Given the description of an element on the screen output the (x, y) to click on. 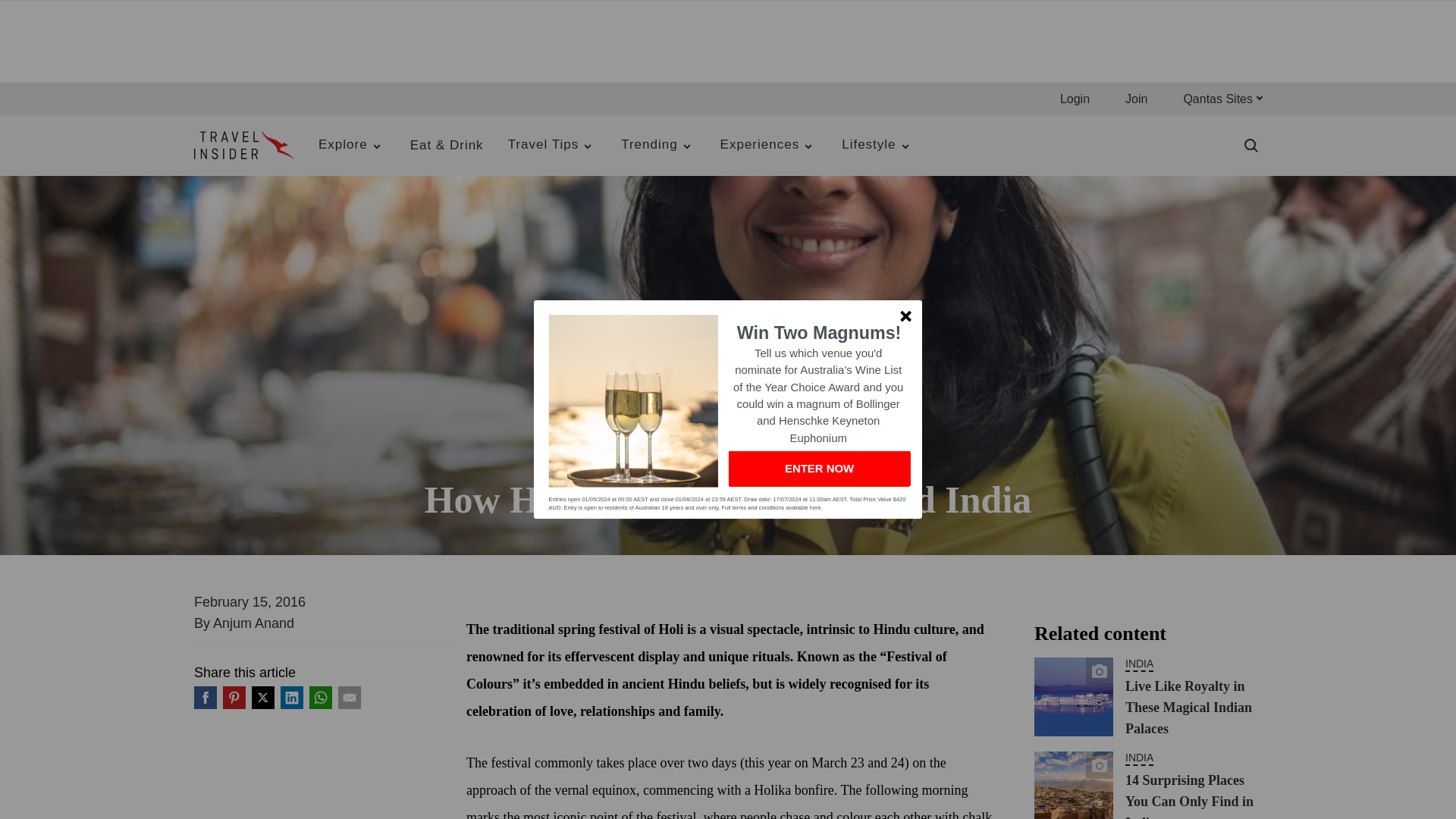
Travel Insider (243, 145)
X (263, 697)
Trending (657, 145)
INDIA (772, 459)
Travel Tips (553, 145)
Login (1074, 98)
Join (1136, 98)
Lifestyle (877, 145)
ASIA (742, 459)
Qantas Sites (1222, 98)
Live Like Royalty in These Magical Indian Palaces (1073, 696)
Pinterest (234, 697)
Explore (351, 145)
LinkedIn (291, 697)
Experiences (768, 145)
